Given the description of an element on the screen output the (x, y) to click on. 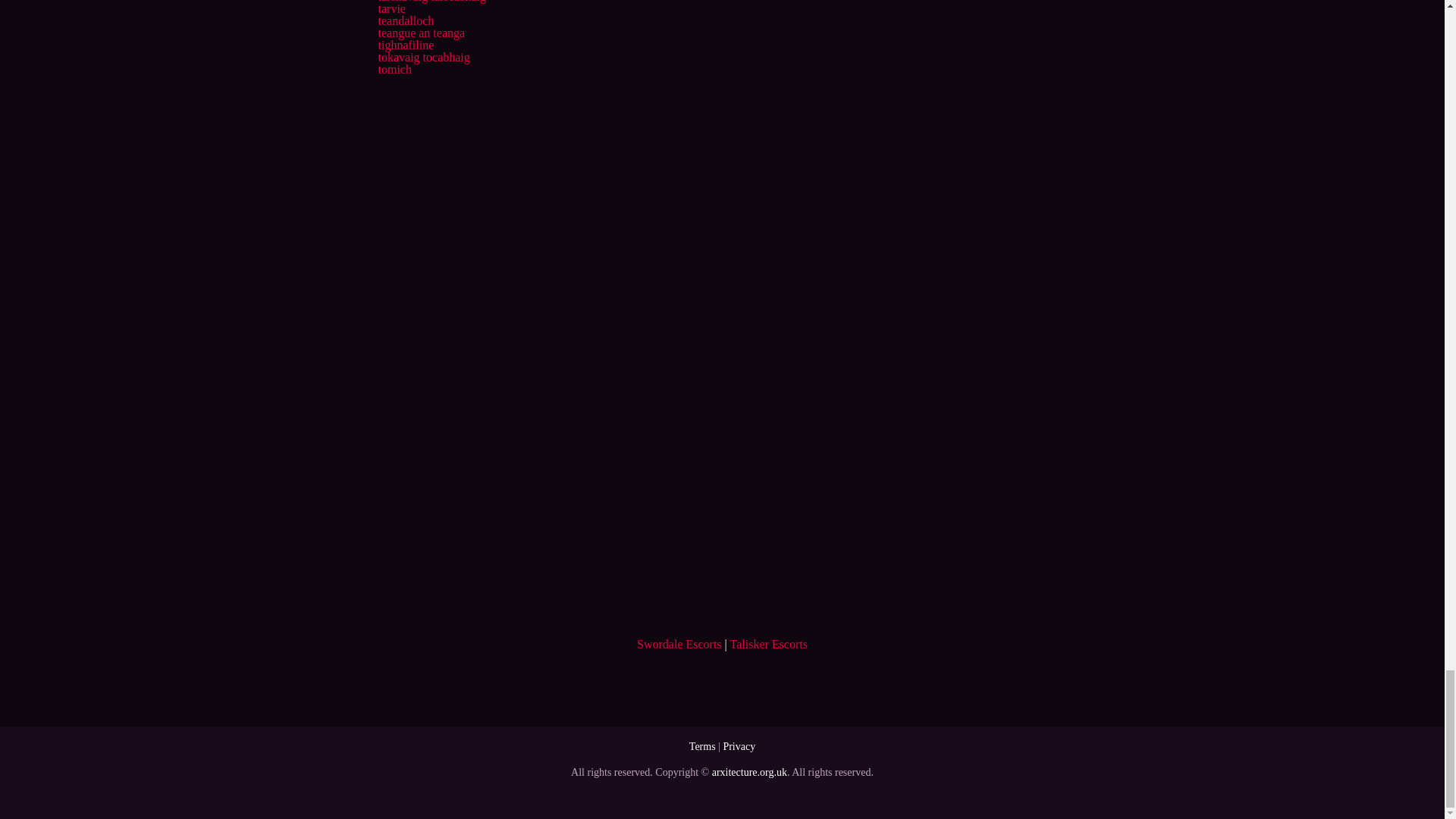
arxitecture.org.uk (749, 772)
tokavaig tocabhaig (422, 56)
tomich (393, 69)
Terms (702, 746)
tarskavaig tarscabhaig (431, 1)
teandalloch (405, 20)
Swordale Escorts (679, 644)
Terms (702, 746)
Privacy (738, 746)
tighnafiline (405, 44)
tarvie (390, 8)
Talisker Escorts (769, 644)
Privacy (738, 746)
teangue an teanga (420, 32)
